Given the description of an element on the screen output the (x, y) to click on. 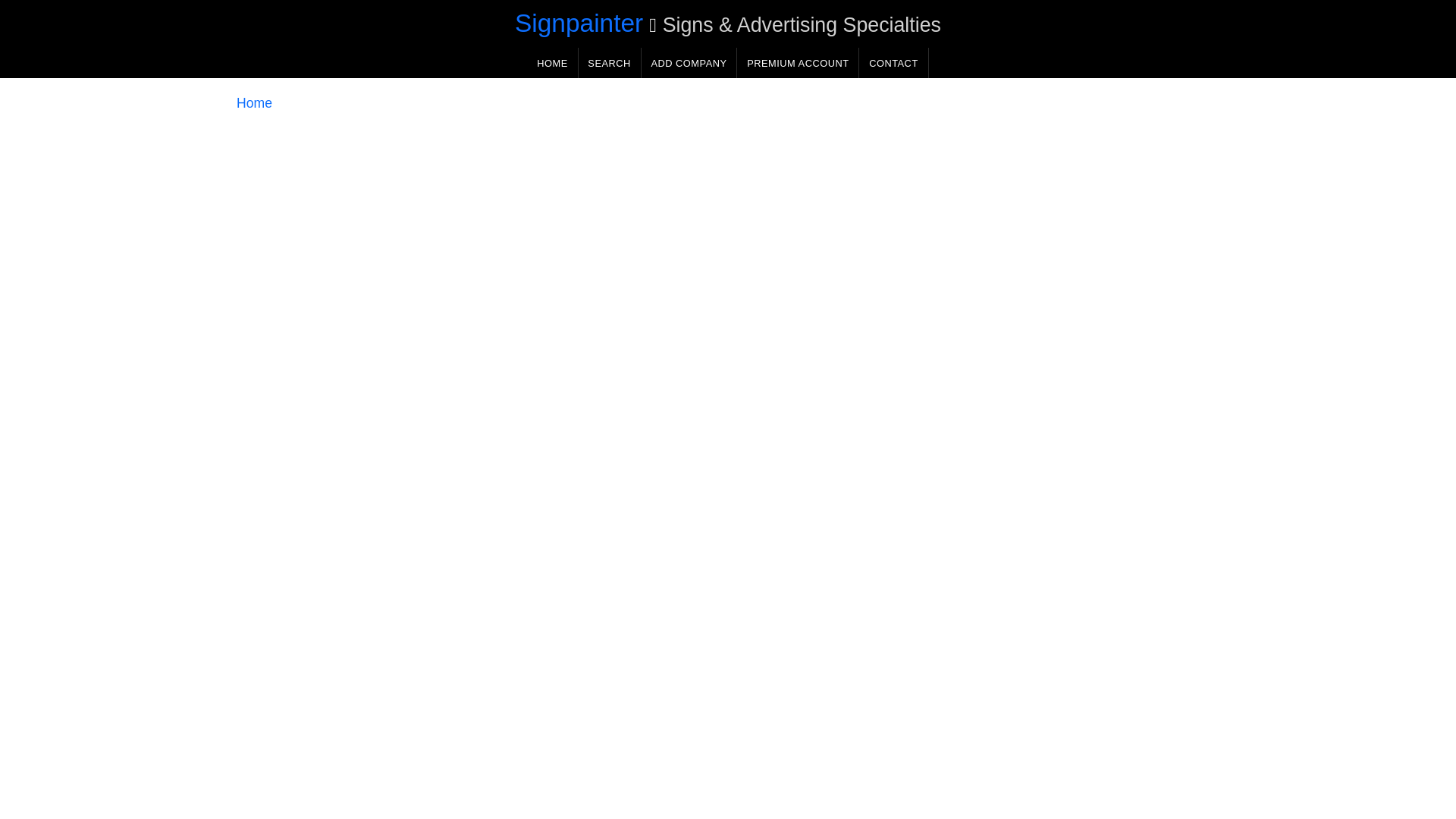
Search in this webseite. (609, 62)
Home (253, 102)
Add a new company (689, 62)
CONTACT (893, 62)
Premium account (797, 62)
Signpainter (579, 22)
HOME (551, 62)
PREMIUM ACCOUNT (797, 62)
SEARCH (609, 62)
ADD COMPANY (689, 62)
